Given the description of an element on the screen output the (x, y) to click on. 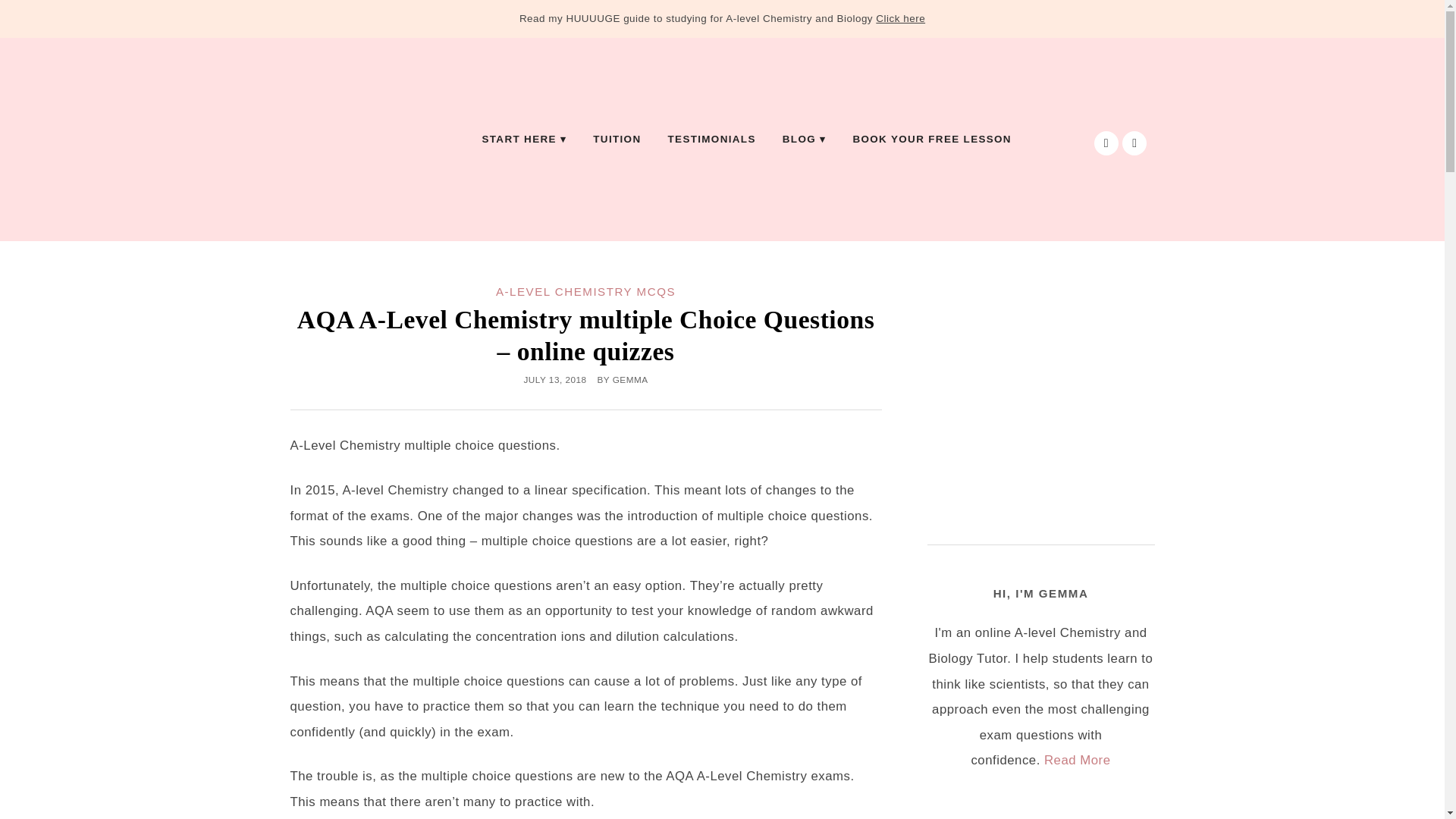
START HERE (524, 138)
Read More (1076, 759)
TESTIMONIALS (711, 138)
BOOK YOUR FREE LESSON (931, 138)
A-LEVEL CHEMISTRY MCQS (585, 291)
TUITION (616, 138)
Click here (900, 18)
BLOG (804, 138)
